Given the description of an element on the screen output the (x, y) to click on. 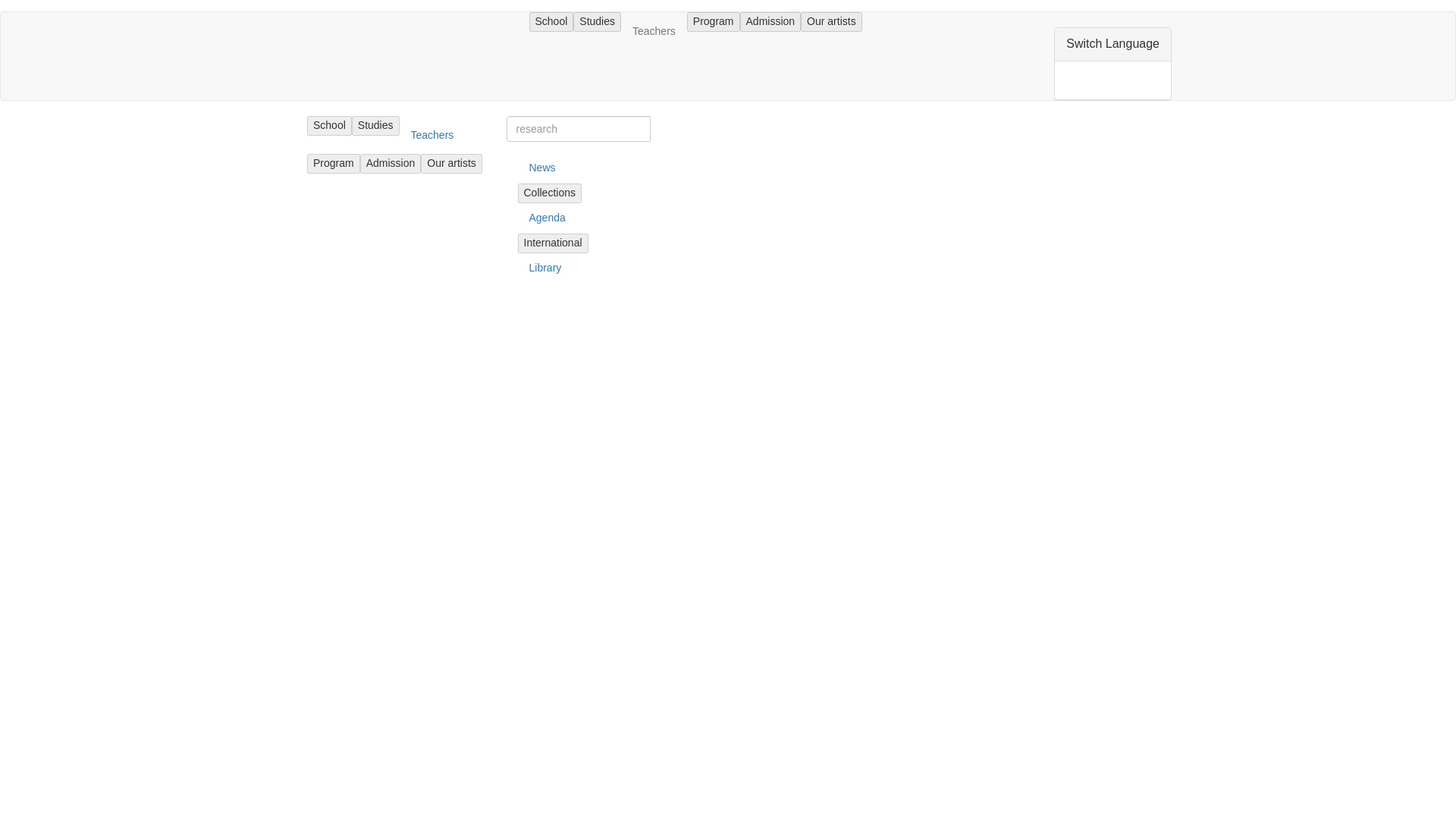
Studies (597, 21)
Admission (770, 21)
School (551, 21)
Teachers (654, 30)
Program (713, 21)
